Given the description of an element on the screen output the (x, y) to click on. 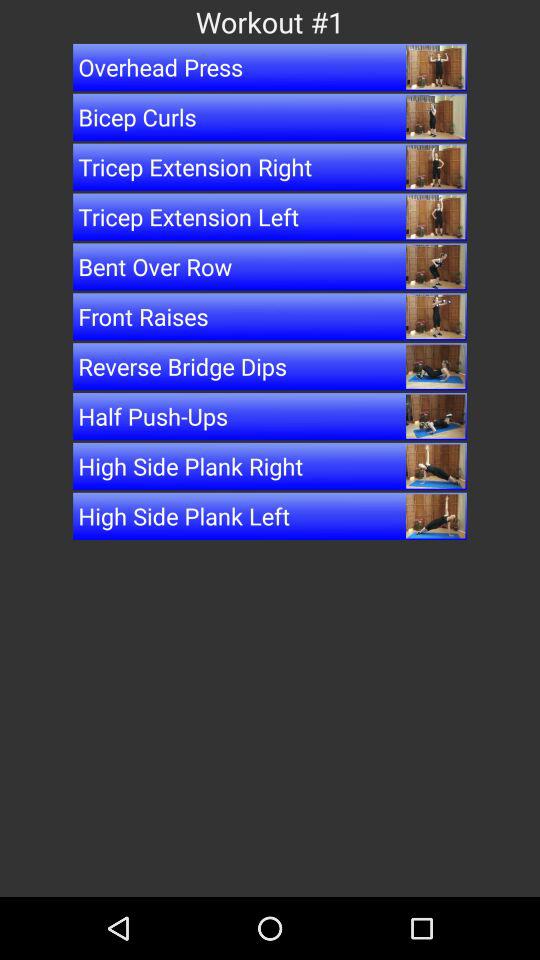
scroll until the reverse bridge dips icon (269, 366)
